Given the description of an element on the screen output the (x, y) to click on. 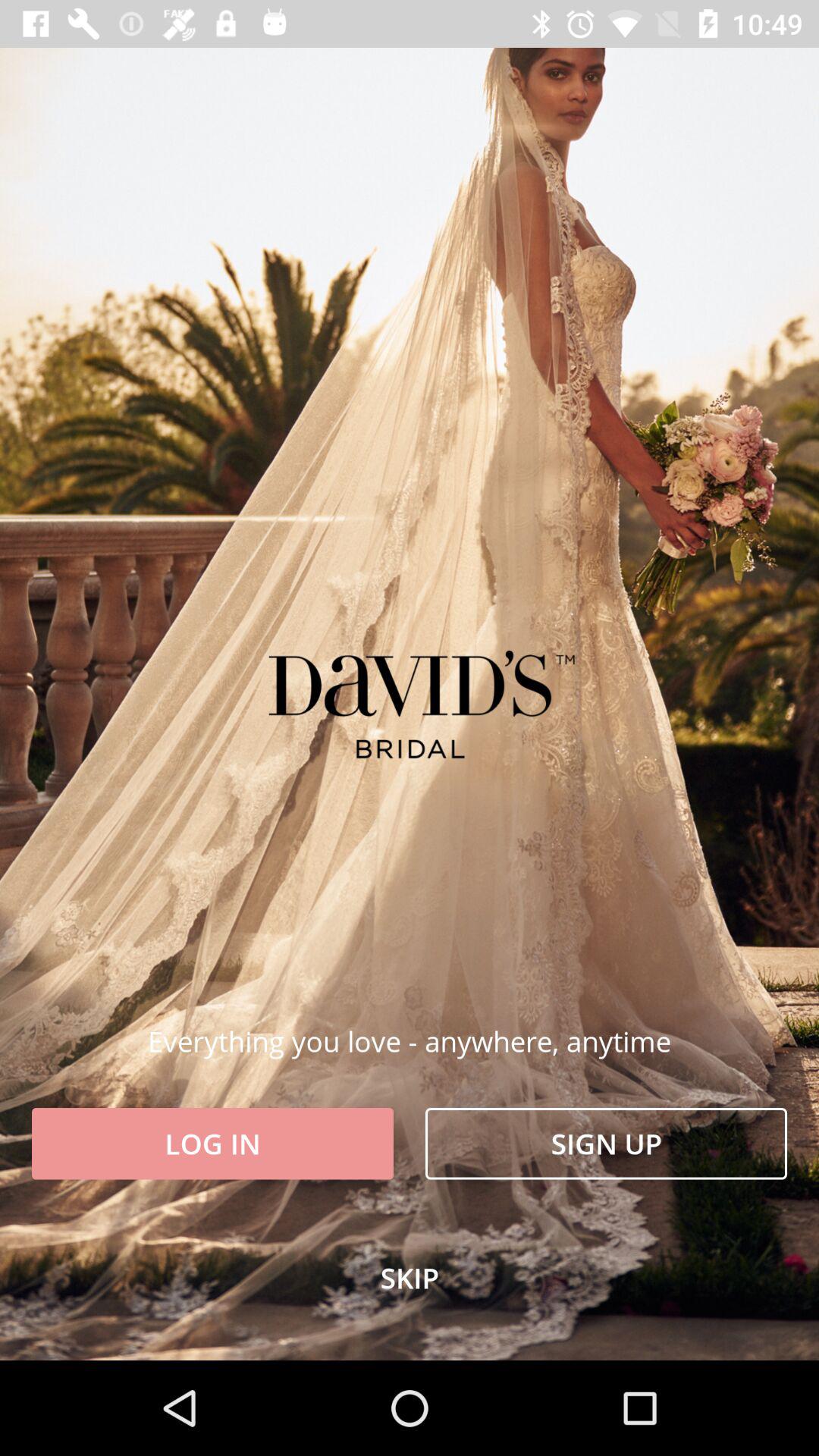
turn off the item below the everything you love (606, 1143)
